Given the description of an element on the screen output the (x, y) to click on. 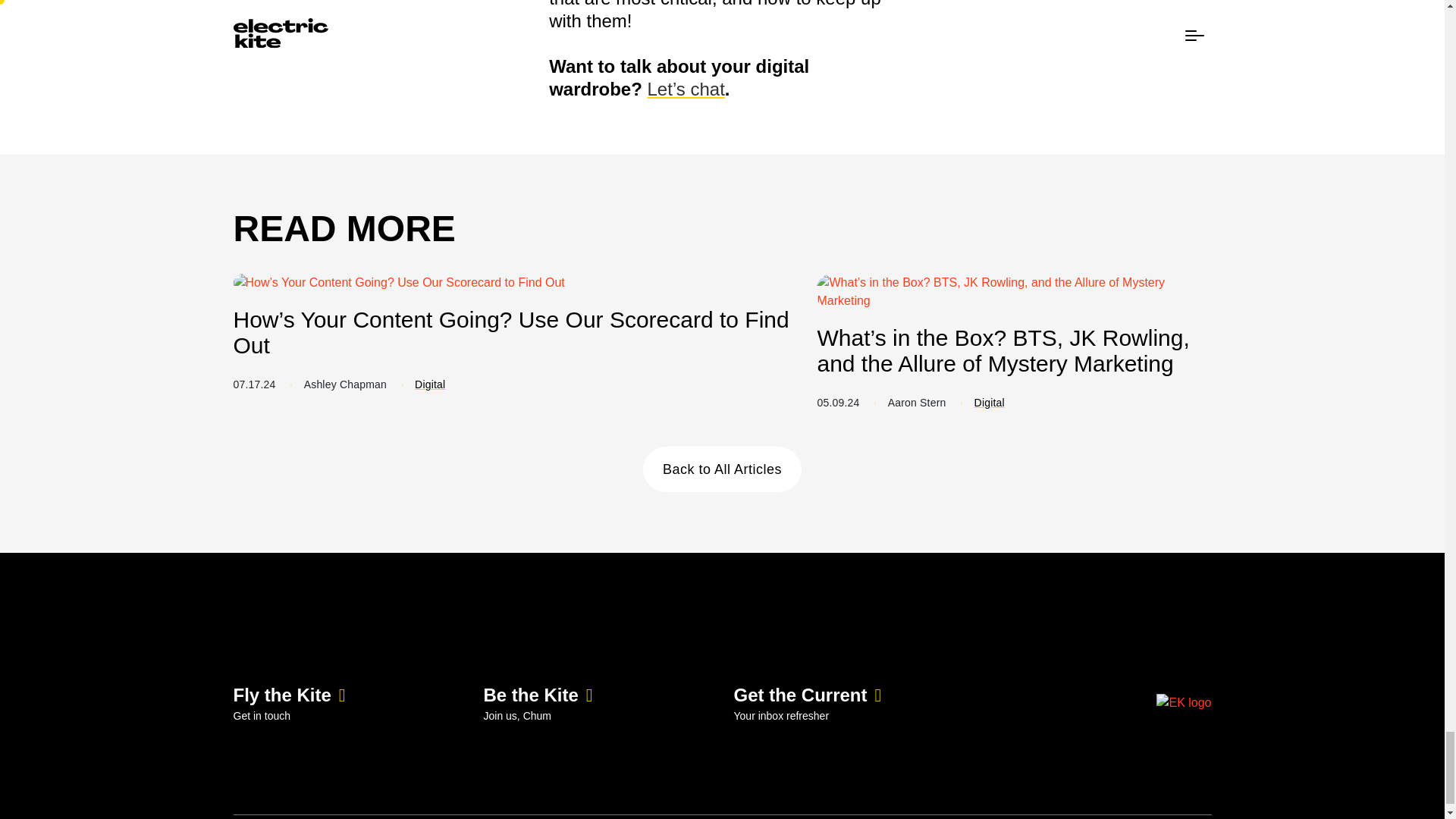
Digital (429, 384)
Digital (989, 402)
Back to All Articles (722, 469)
